Given the description of an element on the screen output the (x, y) to click on. 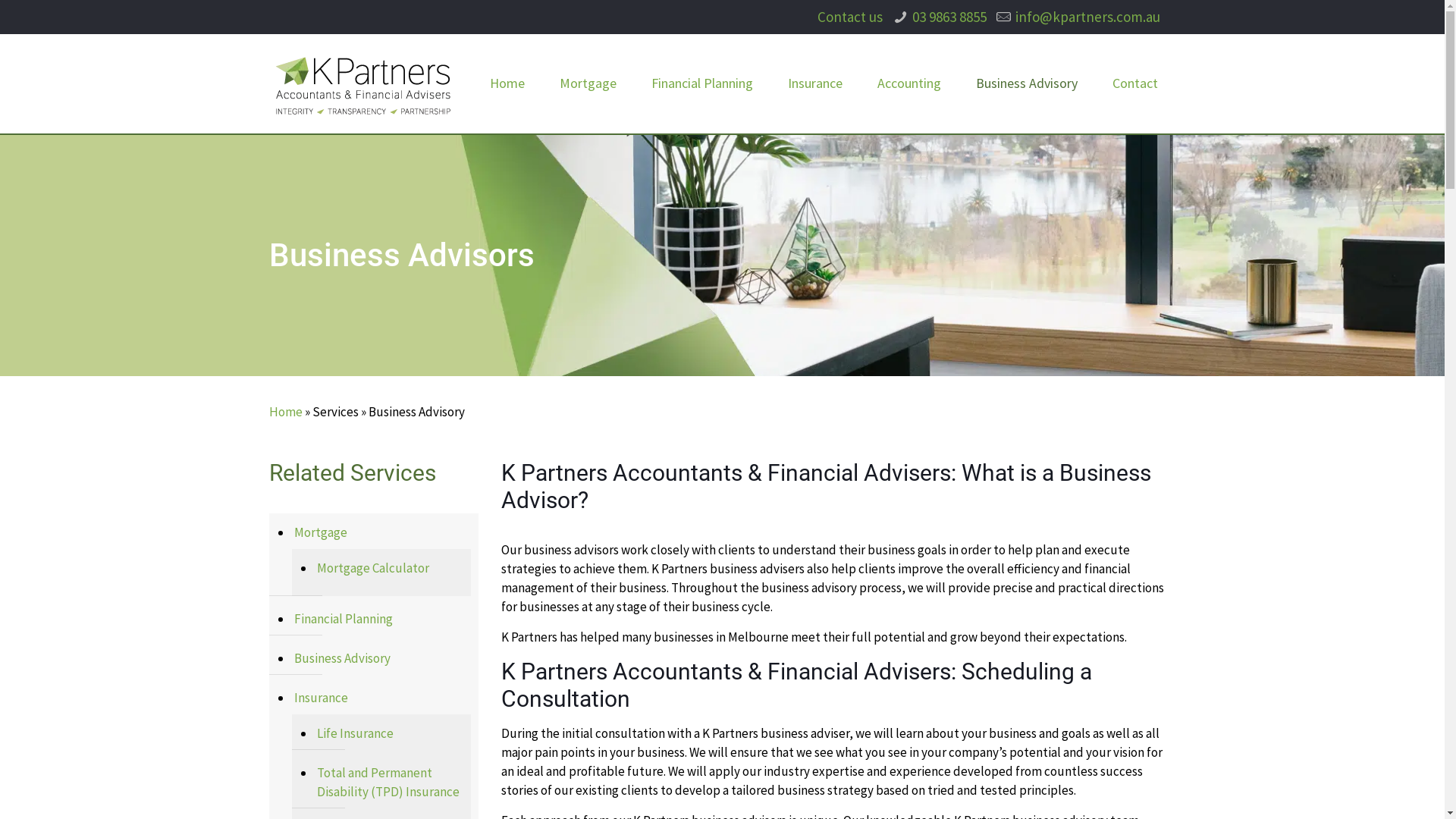
Business Advisory Element type: text (380, 658)
Life Insurance Element type: text (388, 733)
Insurance Element type: text (814, 83)
Accounting Element type: text (909, 83)
Financial Planning Element type: text (380, 619)
Financial Planning Element type: text (702, 83)
Mortgage Calculator Element type: text (388, 568)
Contact Element type: text (1135, 83)
Home Element type: text (285, 411)
Business Advisory Element type: text (1026, 83)
Home Element type: text (506, 83)
Total and Permanent Disability (TPD) Insurance Element type: text (388, 782)
03 9863 8855 Element type: text (949, 16)
K Partners Element type: hover (362, 83)
Insurance Element type: text (380, 698)
Mortgage Element type: text (587, 83)
Contact us Element type: text (849, 16)
info@kpartners.com.au Element type: text (1087, 16)
Mortgage Element type: text (380, 533)
